Given the description of an element on the screen output the (x, y) to click on. 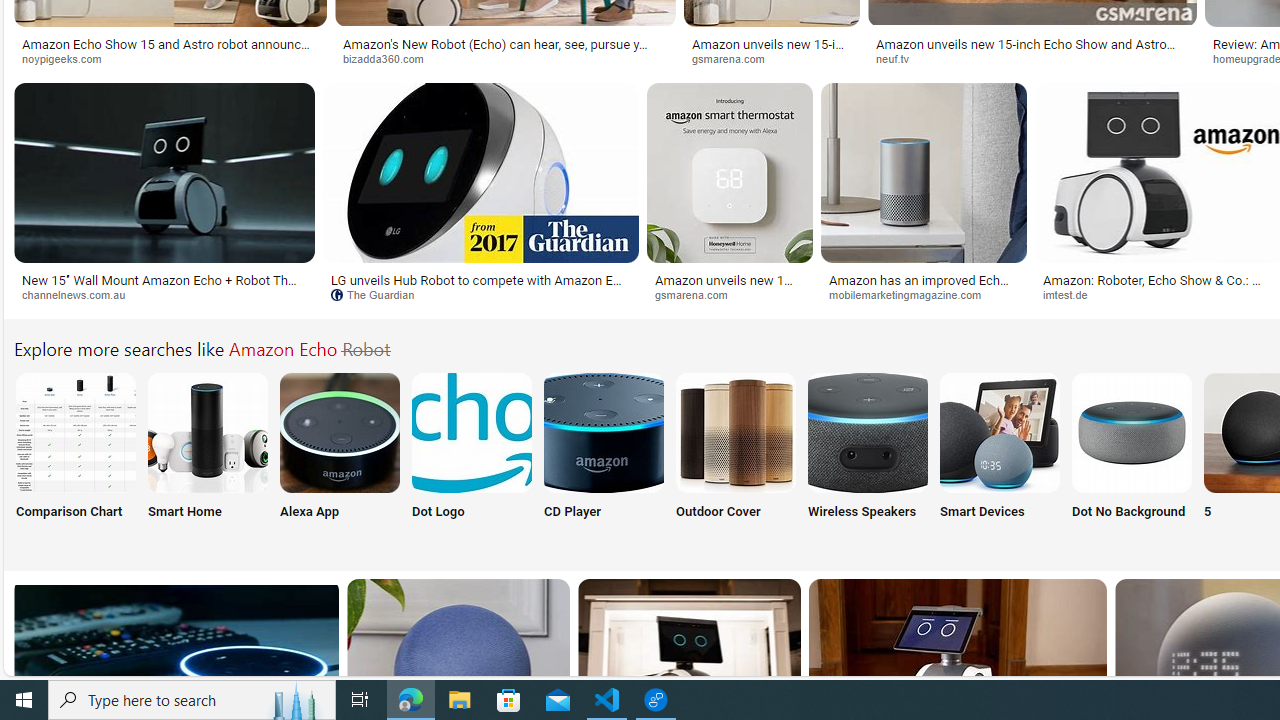
Amazon Echo Smart Home (207, 432)
Alexa App. Amazon Echo Alexa App (339, 458)
mobilemarketingmagazine.com (912, 294)
imtest.de (1159, 295)
mobilemarketingmagazine.com (923, 295)
Amazon Echo Wireless Speakers Wireless Speakers (867, 458)
Amazon Echo Dot Logo Dot Logo (472, 458)
Dot Logo (472, 457)
gsmarena.com (730, 295)
